Given the description of an element on the screen output the (x, y) to click on. 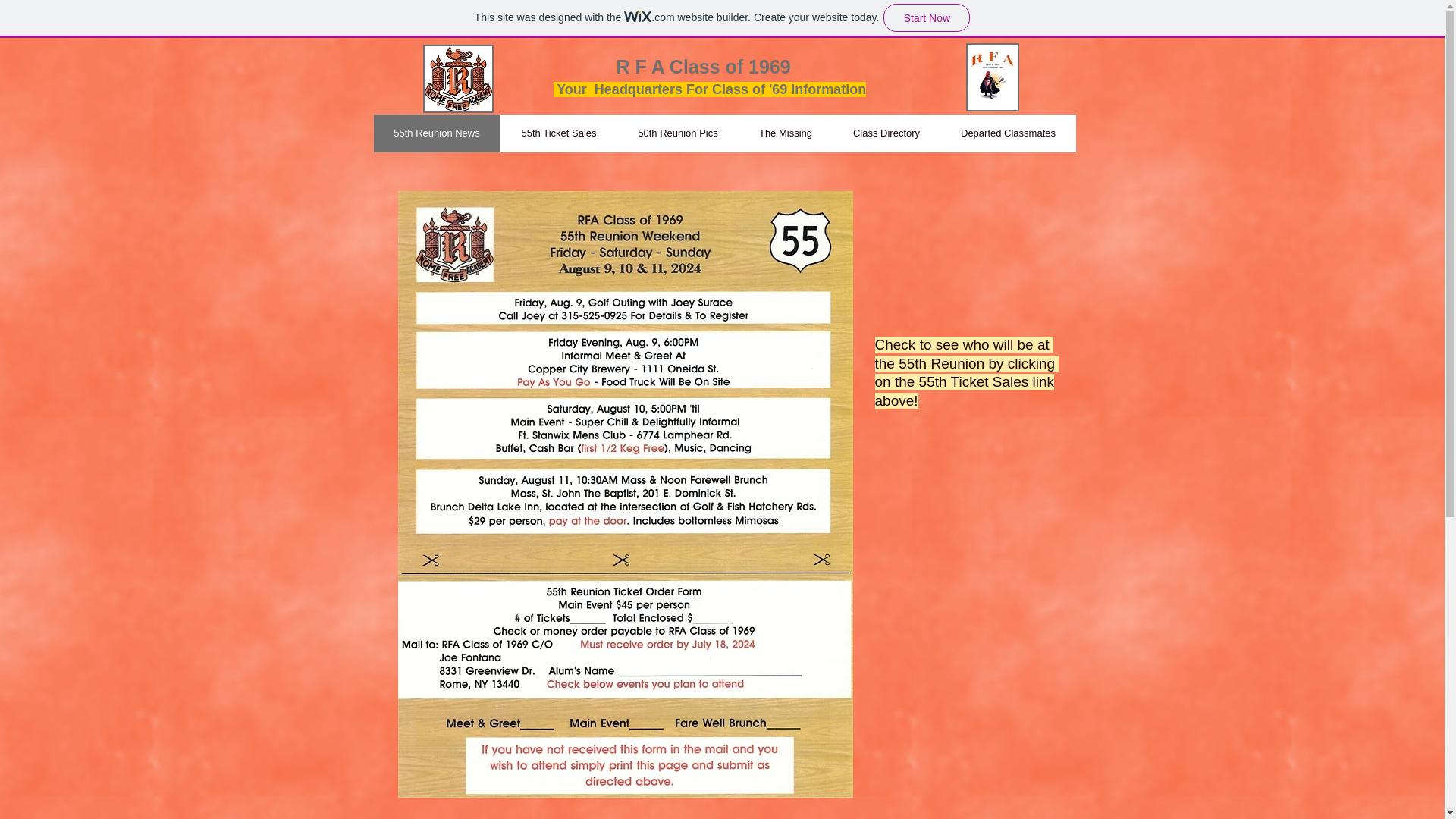
50th Reunion Pics (677, 133)
Class Directory (886, 133)
The Missing (785, 133)
55th Reunion News (435, 133)
RFA Logo.JPG (458, 79)
Departed Classmates (1007, 133)
55th Ticket Sales (558, 133)
